Given the description of an element on the screen output the (x, y) to click on. 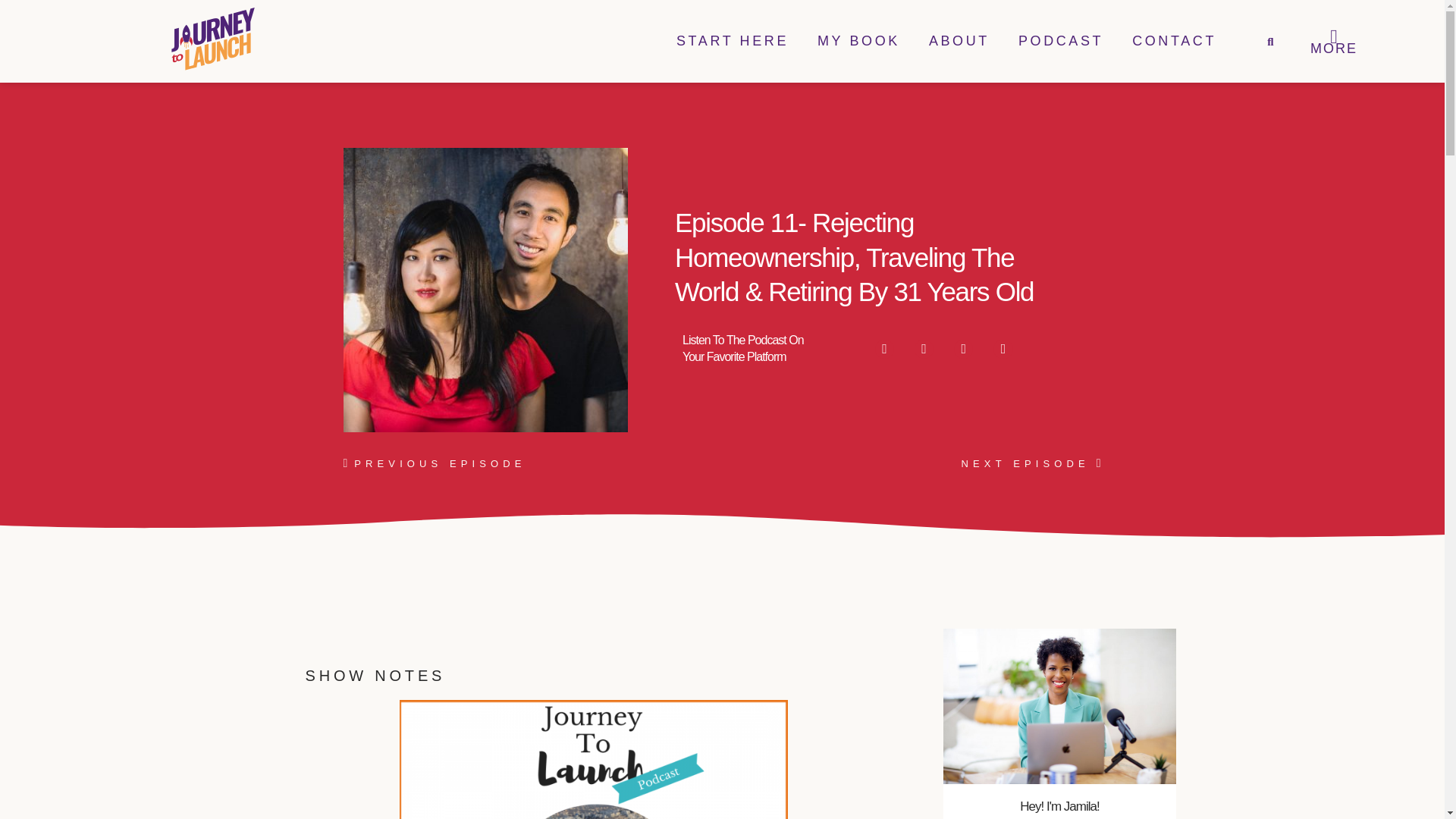
PODCAST (1060, 40)
NEXT EPISODE (911, 464)
MORE (1333, 48)
ABOUT (959, 40)
MY BOOK (857, 40)
CONTACT (1173, 40)
START HERE (733, 40)
PREVIOUS EPISODE (532, 464)
